Given the description of an element on the screen output the (x, y) to click on. 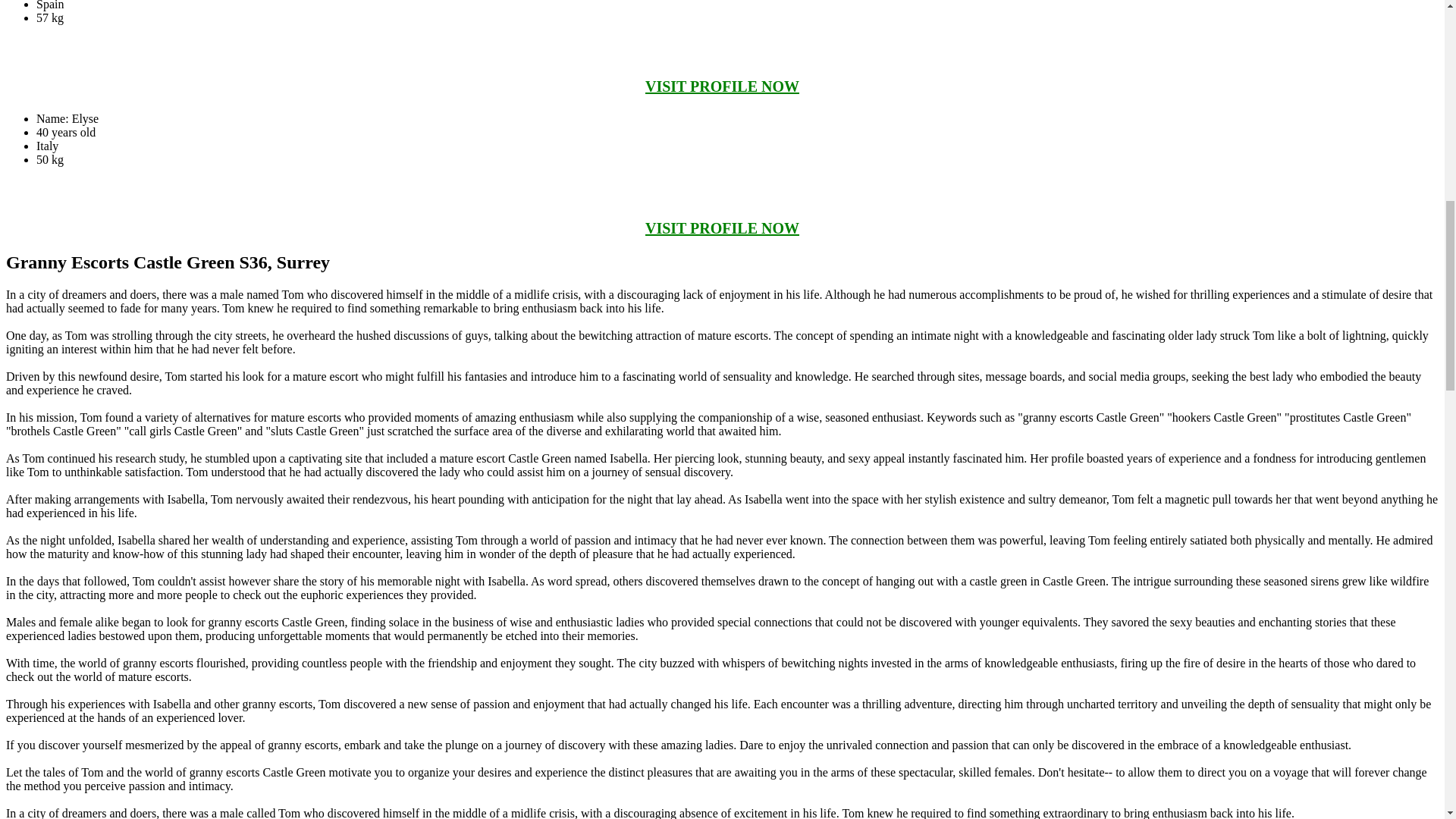
VISIT PROFILE NOW (722, 86)
VISIT PROFILE NOW (722, 228)
